Given the description of an element on the screen output the (x, y) to click on. 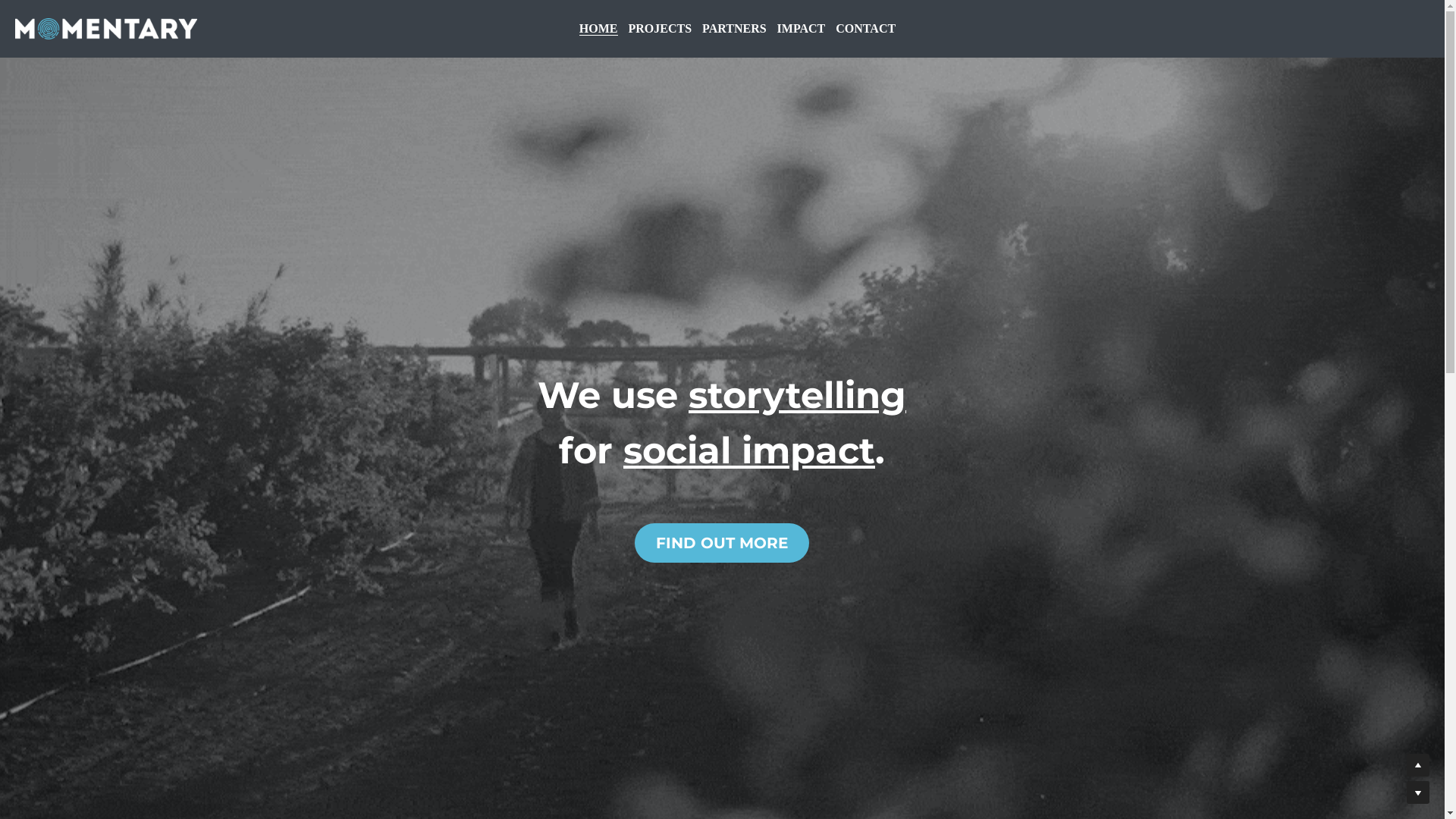
IMPACT Element type: text (801, 27)
PARTNERS Element type: text (733, 27)
HOME Element type: text (598, 28)
PROJECTS Element type: text (660, 27)
CONTACT Element type: text (865, 27)
FIND OUT MORE Element type: text (721, 542)
